Given the description of an element on the screen output the (x, y) to click on. 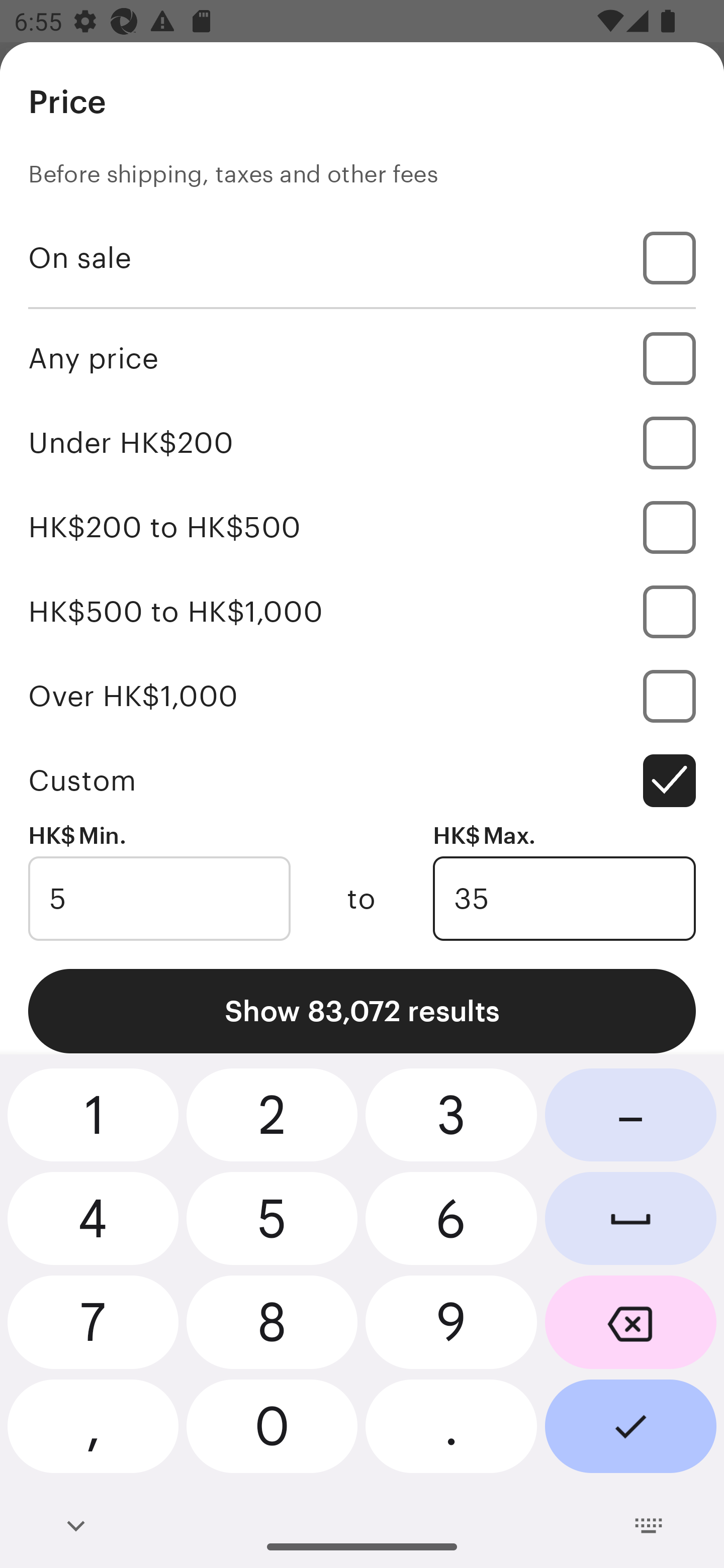
On sale (362, 257)
Any price (362, 357)
Under HK$200 (362, 441)
HK$200 to HK$500 (362, 526)
HK$500 to HK$1,000 (362, 611)
Over HK$1,000 (362, 695)
Custom (362, 780)
5 (159, 898)
35 (563, 898)
Show 83,072 results (361, 1011)
